Given the description of an element on the screen output the (x, y) to click on. 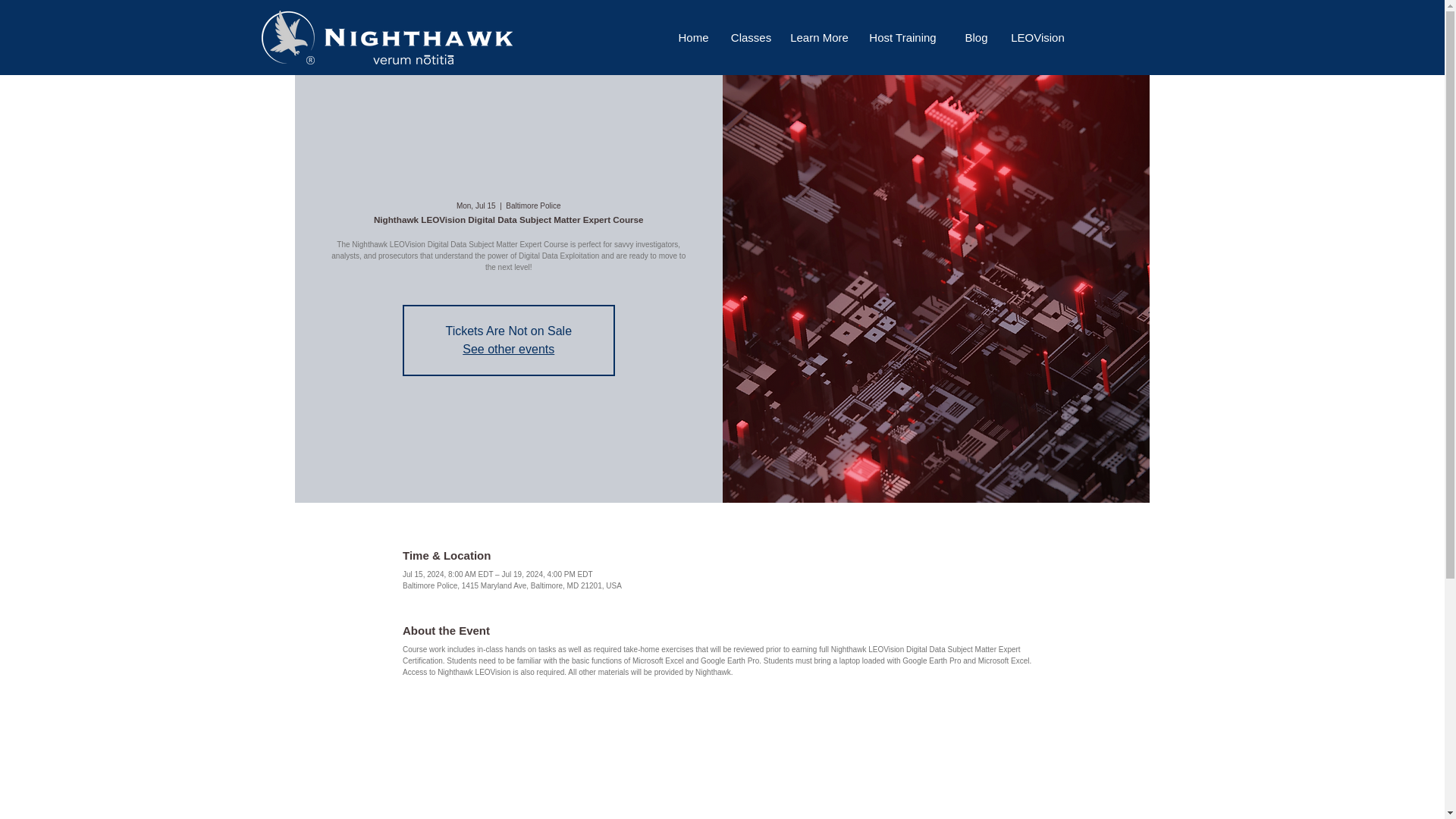
Blog (976, 37)
Host Training (902, 37)
LEOVision (1037, 37)
See other events (508, 349)
Home (692, 37)
Learn More (818, 37)
Truth from data (413, 59)
Classes (751, 37)
